Given the description of an element on the screen output the (x, y) to click on. 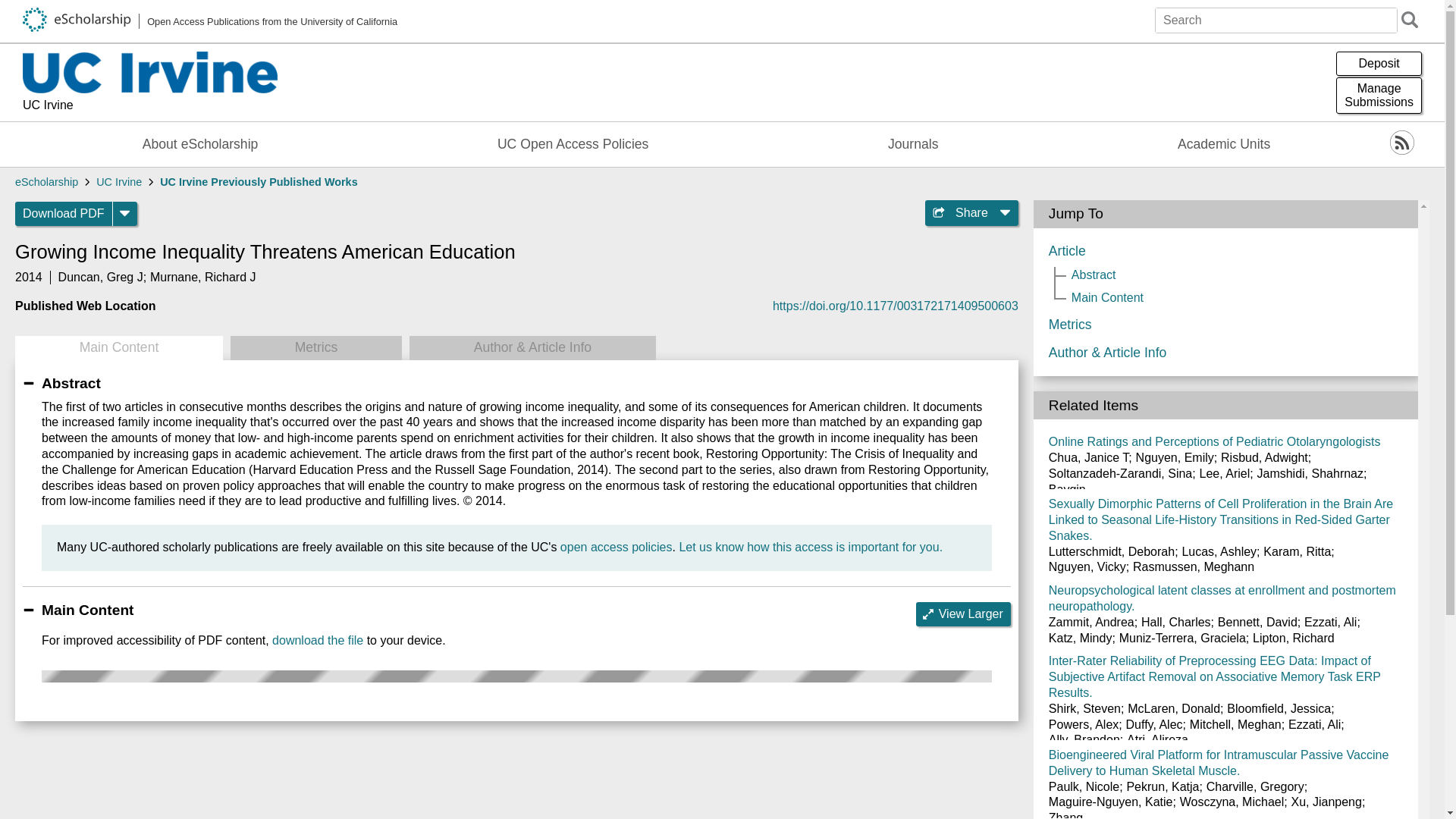
Download PDF (63, 213)
UC Irvine Previously Published Works (258, 182)
View Larger (962, 613)
open access policies (616, 546)
Duncan, Greg J (1379, 94)
Metrics (100, 277)
Academic Units (315, 347)
Open Access Publications from the University of California (1224, 143)
Let us know how this access is important for you. (210, 21)
About eScholarship (810, 546)
eScholarship (200, 143)
Journals (46, 182)
Main Content (913, 143)
UC Irvine (118, 347)
